Given the description of an element on the screen output the (x, y) to click on. 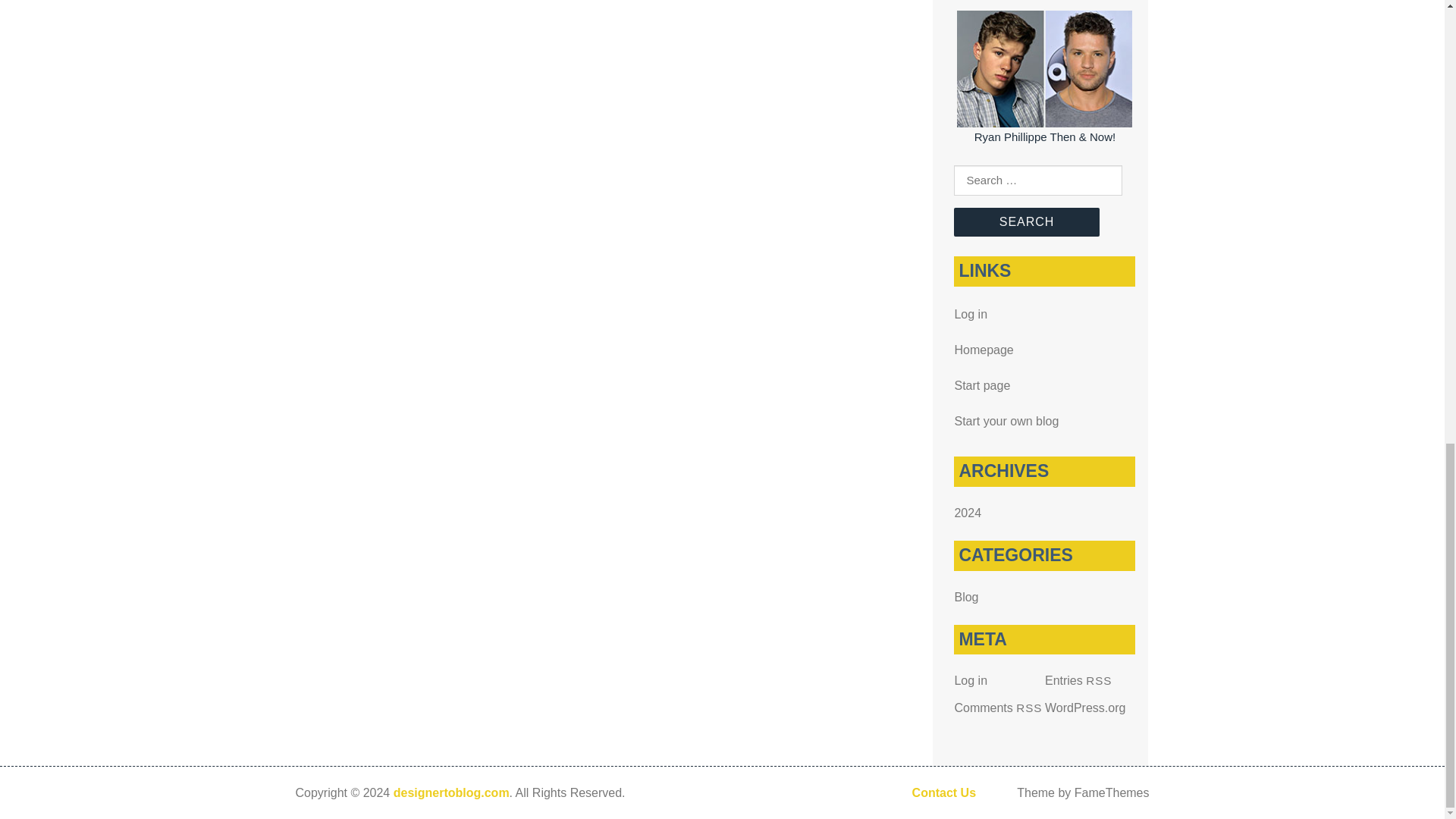
Log in (970, 314)
Homepage (983, 349)
Search (1026, 222)
Start your own blog (1005, 420)
designertoblog.com (451, 792)
Start page (981, 385)
Contact Us (943, 792)
Log in (970, 680)
2024 (967, 512)
Really Simple Syndication (1099, 680)
WordPress.org (1085, 707)
Really Simple Syndication (1029, 707)
Blog (965, 596)
Entries RSS (1078, 680)
Comments RSS (997, 707)
